Given the description of an element on the screen output the (x, y) to click on. 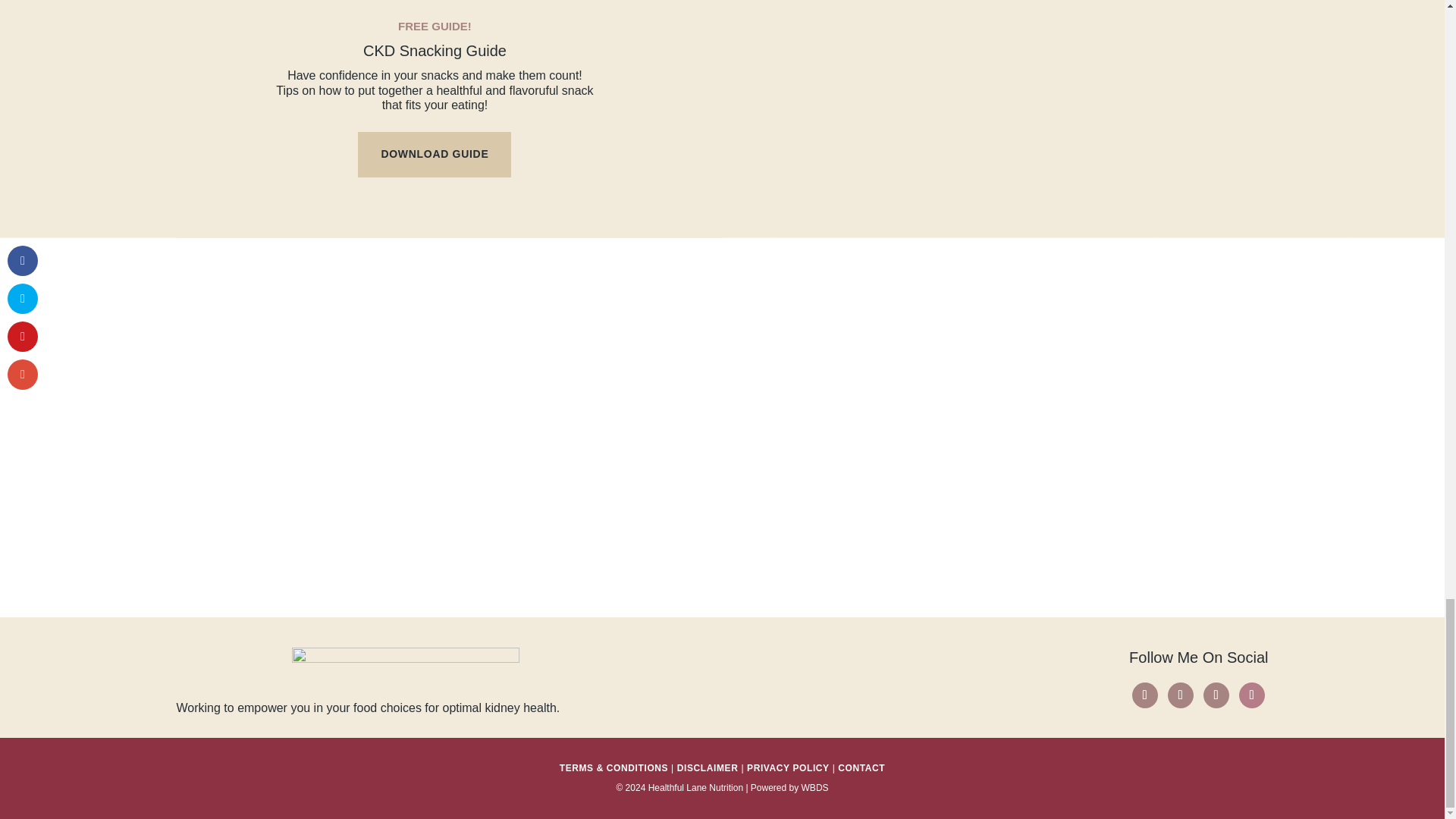
Follow on Youtube (1215, 695)
Follow on LinkedIn (1252, 695)
Follow on Instagram (1144, 695)
Follow on Facebook (1180, 695)
